Given the description of an element on the screen output the (x, y) to click on. 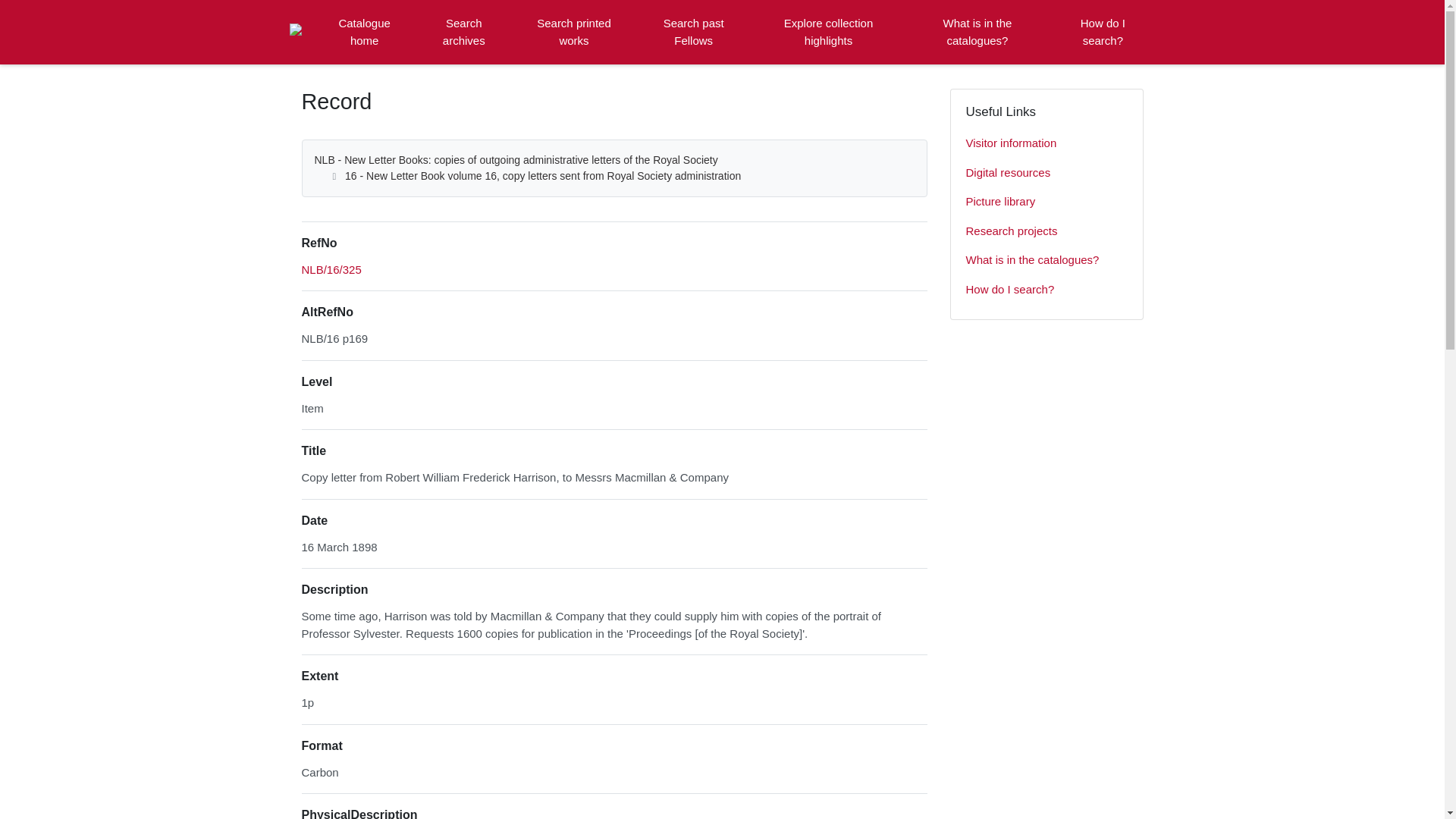
Visitor information (1046, 143)
What is in the catalogues? (1046, 260)
Digital resources (1046, 173)
What is in the catalogues? (977, 32)
How do I search? (1102, 32)
Browse record in hierarchy. (331, 269)
Search past Fellows (692, 32)
Search archives (463, 32)
Picture library (1046, 202)
